Given the description of an element on the screen output the (x, y) to click on. 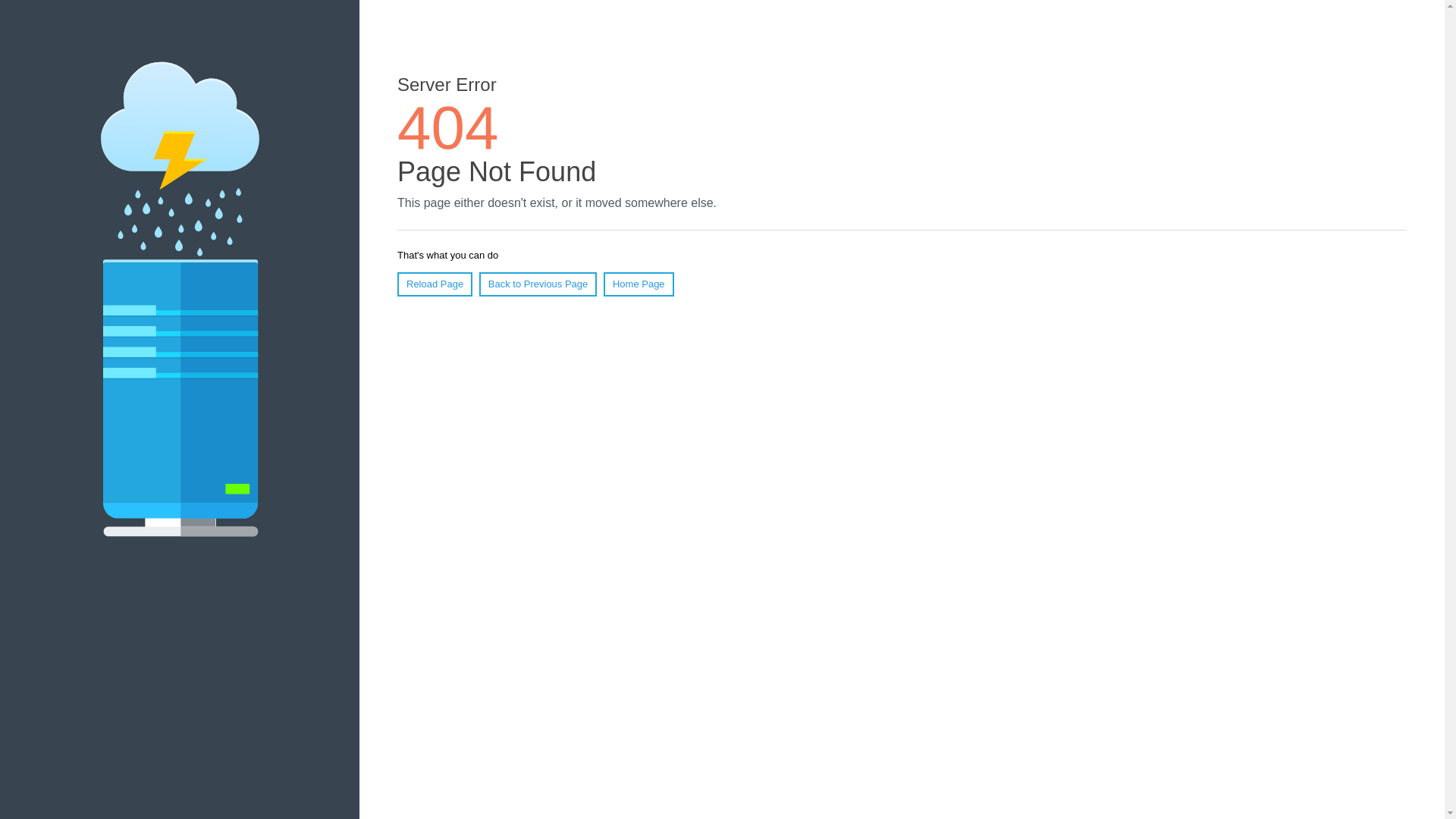
Back to Previous Page Element type: text (538, 284)
Home Page Element type: text (638, 284)
Reload Page Element type: text (434, 284)
